Given the description of an element on the screen output the (x, y) to click on. 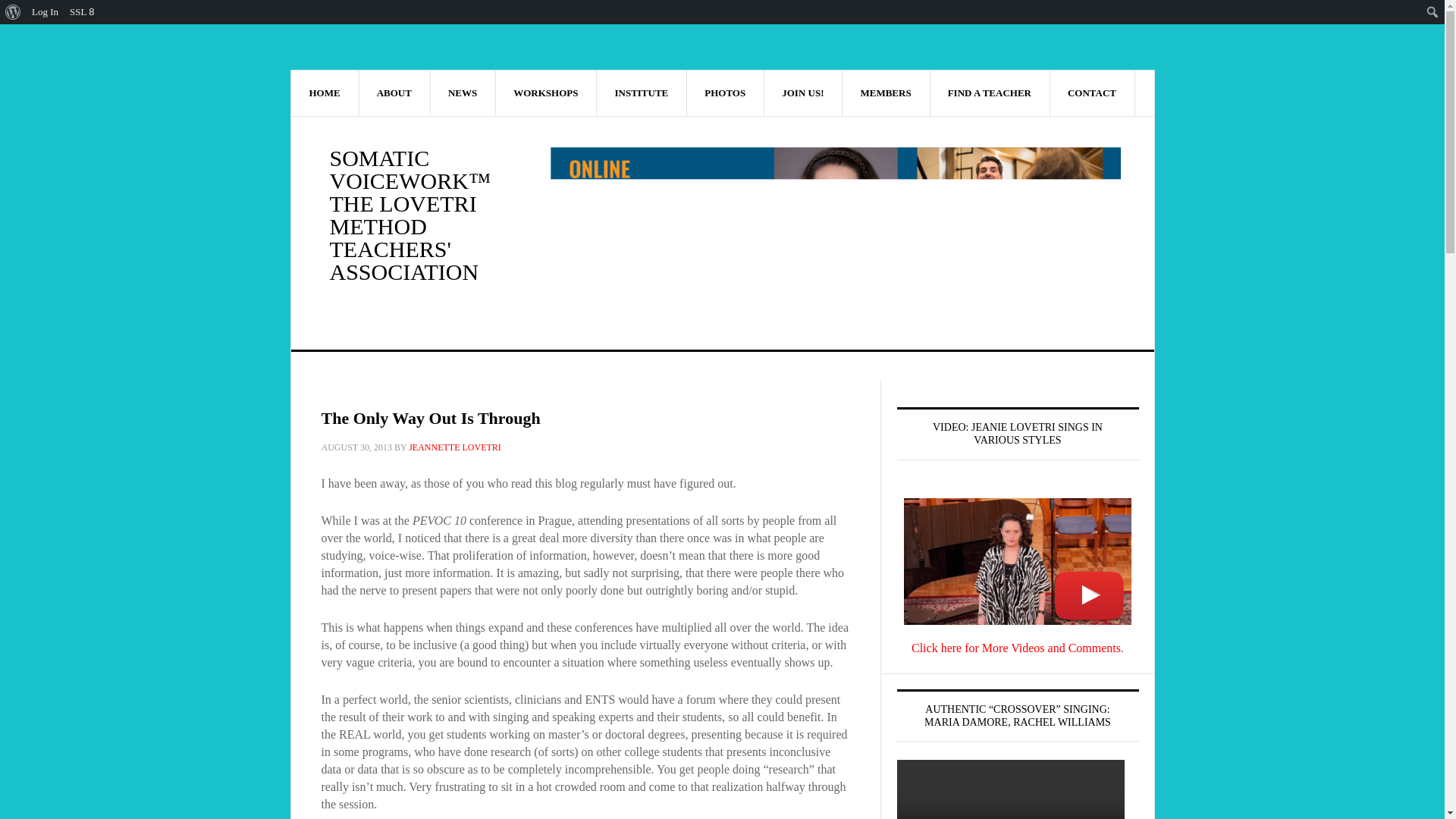
PHOTOS (724, 93)
INSTITUTE (641, 93)
CONTACT (1092, 93)
WORKSHOPS (545, 93)
HOME (325, 93)
ABOUT (394, 93)
Log In (45, 12)
Search (15, 12)
Click here for More Videos and Comments (1016, 647)
SSL Health (82, 12)
JOIN US! (802, 93)
SSL 8 (82, 12)
MEMBERS (885, 93)
JEANNETTE LOVETRI (454, 447)
